Given the description of an element on the screen output the (x, y) to click on. 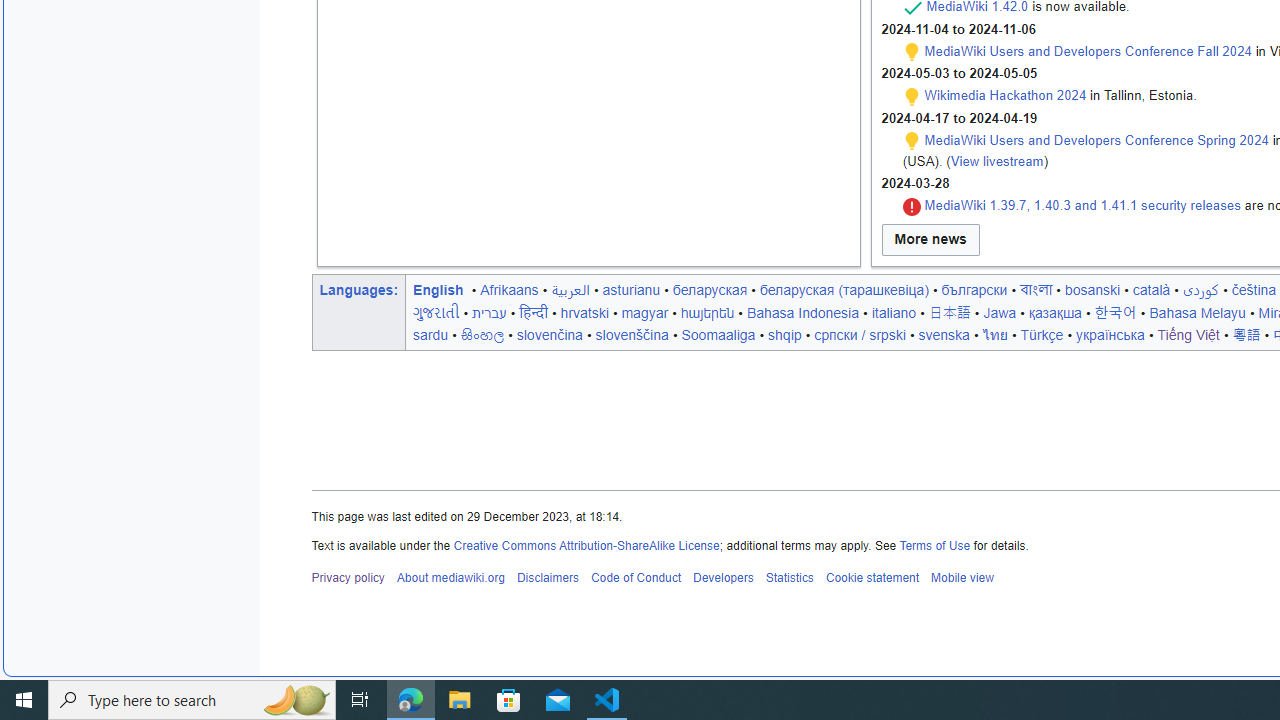
Cookie statement (872, 578)
Mobile view (962, 578)
Security (911, 206)
About mediawiki.org (450, 578)
asturianu (630, 289)
About mediawiki.org (450, 578)
